Given the description of an element on the screen output the (x, y) to click on. 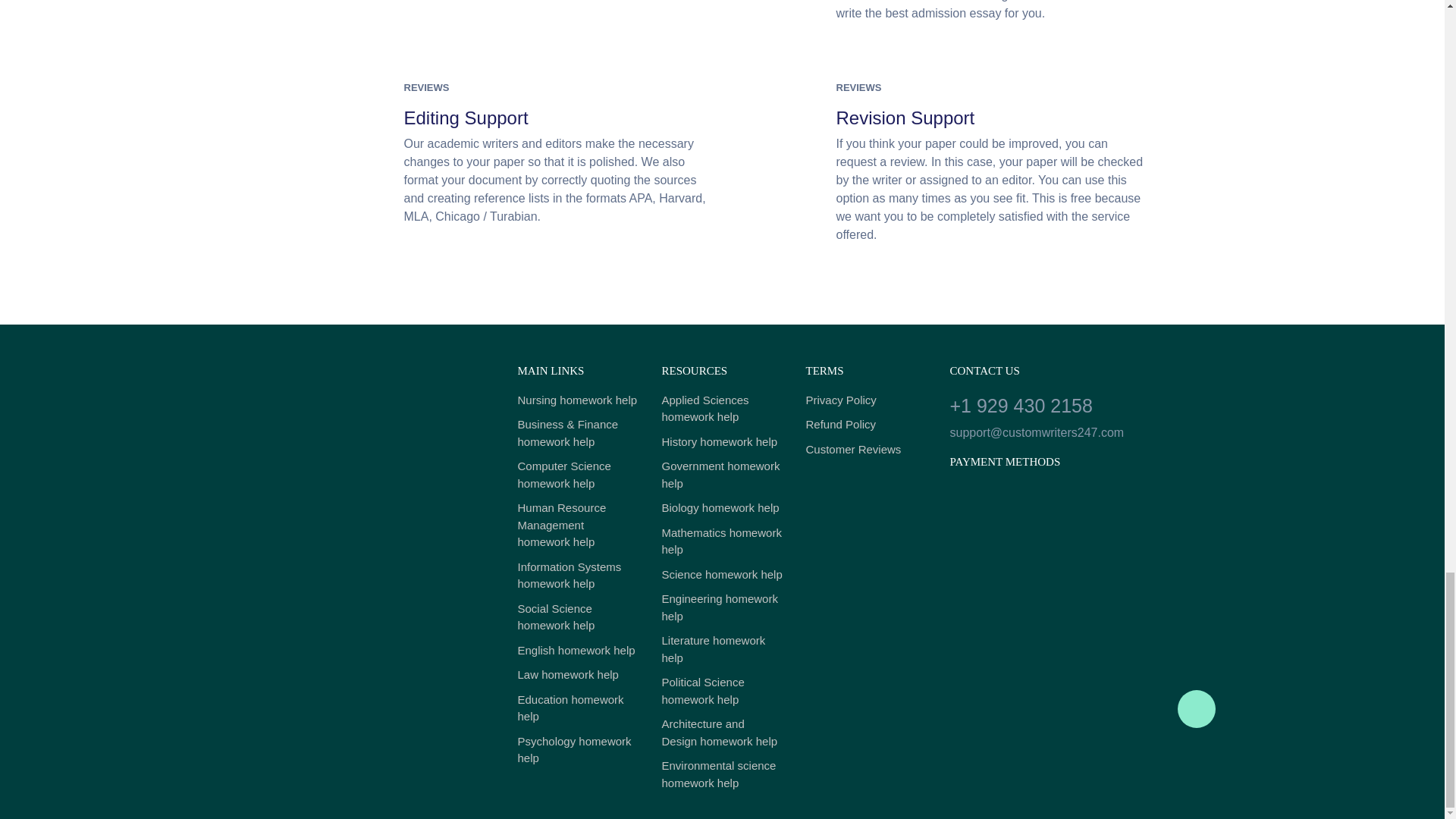
Computer Science homework help (577, 474)
Engineering homework help (722, 607)
Privacy Policy (865, 400)
Environmental science homework help (722, 774)
Architecture and Design homework help (722, 732)
Human Resource Management homework help (577, 525)
Applied Sciences homework help (722, 408)
History homework help (722, 442)
Refund Policy (865, 425)
Human Resource Management homework help (577, 525)
Literature homework help (722, 649)
Computer Science homework help (577, 474)
Government homework help (722, 474)
Science homework help (722, 574)
Mathematics homework help (722, 541)
